Given the description of an element on the screen output the (x, y) to click on. 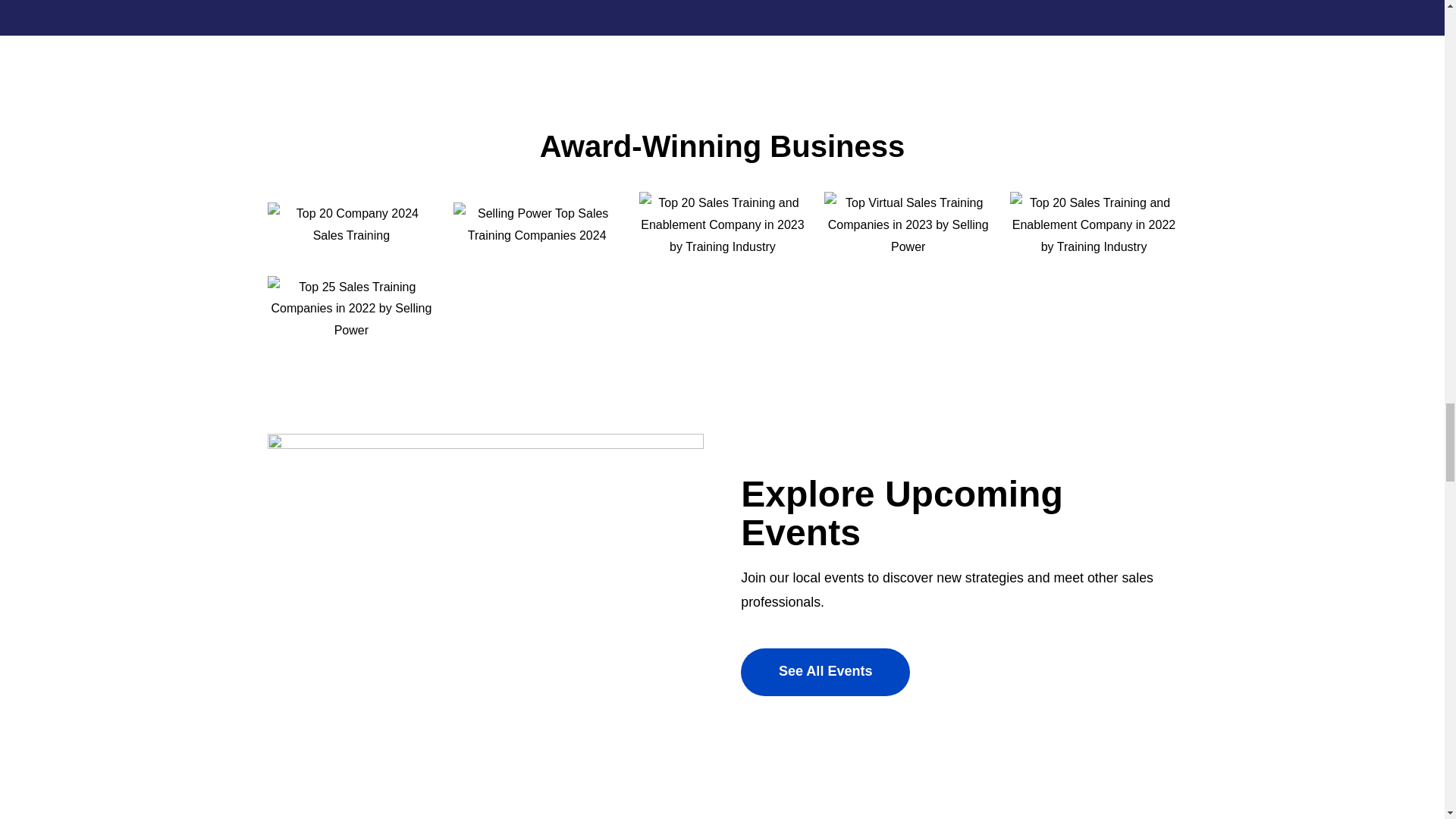
Selling Power Top Sales Training Companies 2024 (536, 225)
Top 25 Sales Training Companies in 2022 by Selling Power (351, 308)
Top 20 Company 2024 Sales Training (351, 225)
